Given the description of an element on the screen output the (x, y) to click on. 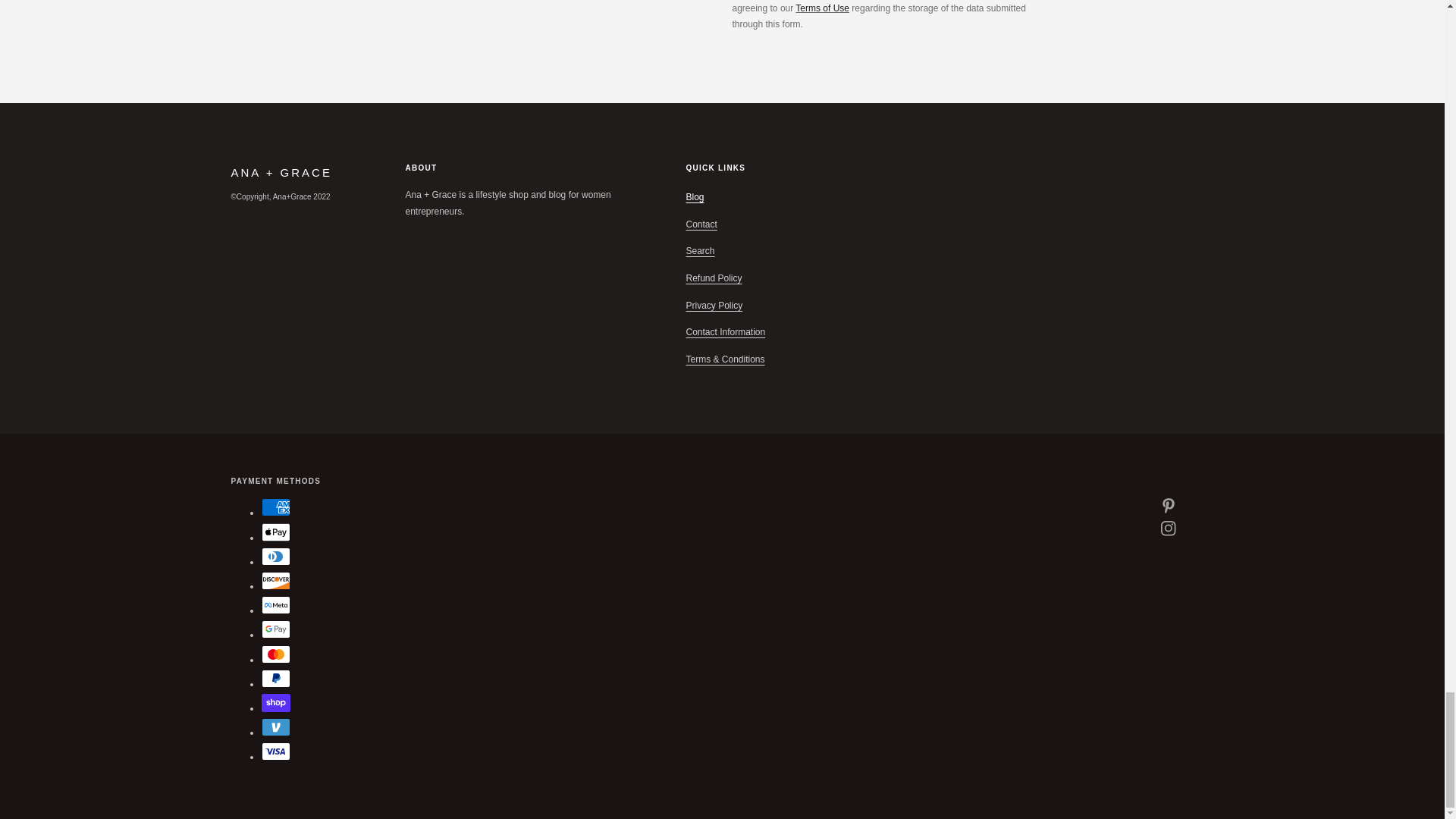
Apple Pay (274, 532)
Discover (274, 580)
American Express (274, 506)
All products (821, 8)
Google Pay (274, 628)
Diners Club (274, 556)
Meta Pay (274, 605)
